Given the description of an element on the screen output the (x, y) to click on. 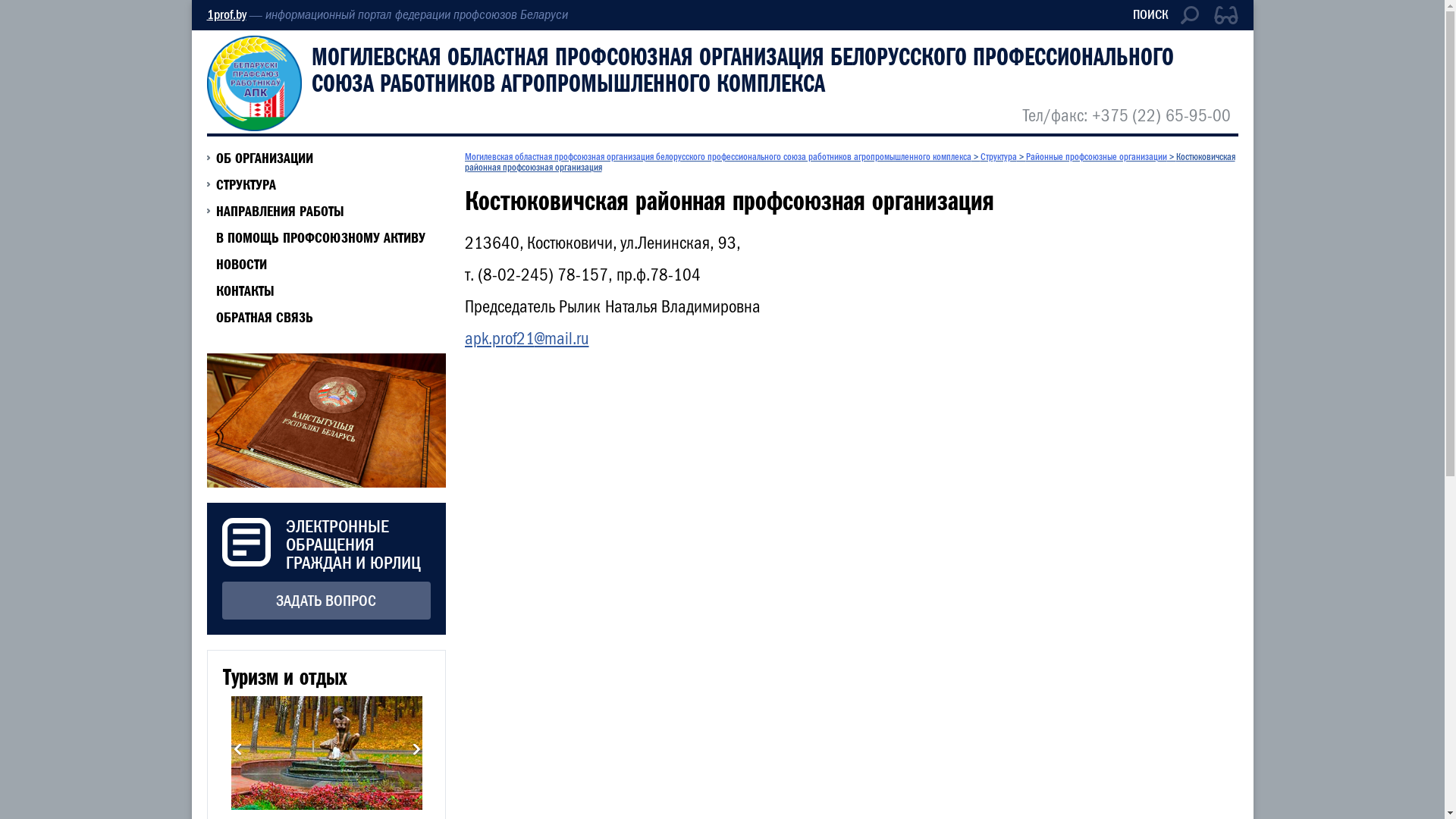
Previous Element type: text (236, 749)
Next Element type: text (415, 749)
apk.prof21@mail.ru Element type: text (526, 338)
1prof.by Element type: text (225, 14)
